Given the description of an element on the screen output the (x, y) to click on. 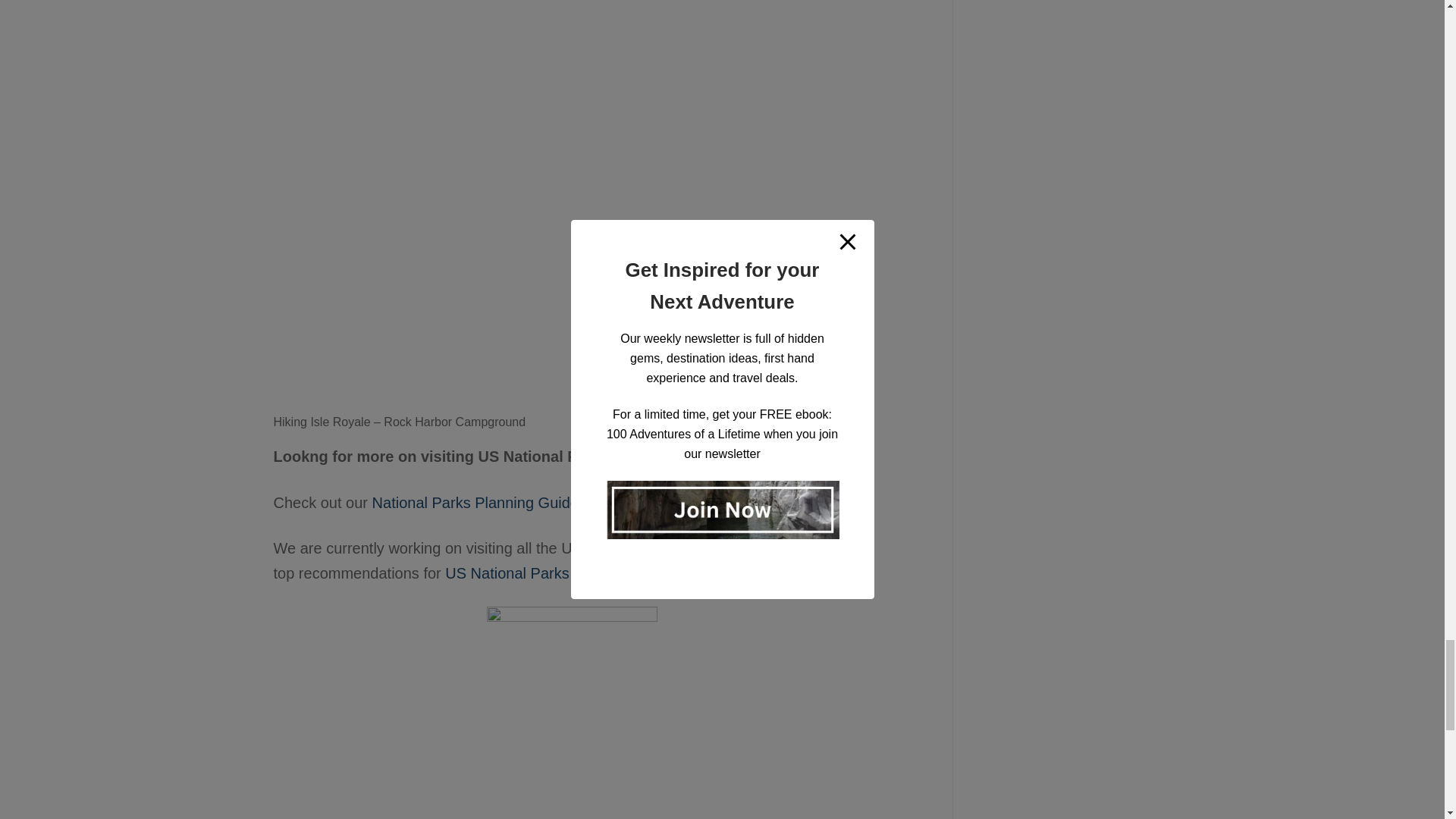
National Parks Planning Guide (475, 502)
US National Parks for Teens. (542, 573)
US National Park guides (777, 502)
